Given the description of an element on the screen output the (x, y) to click on. 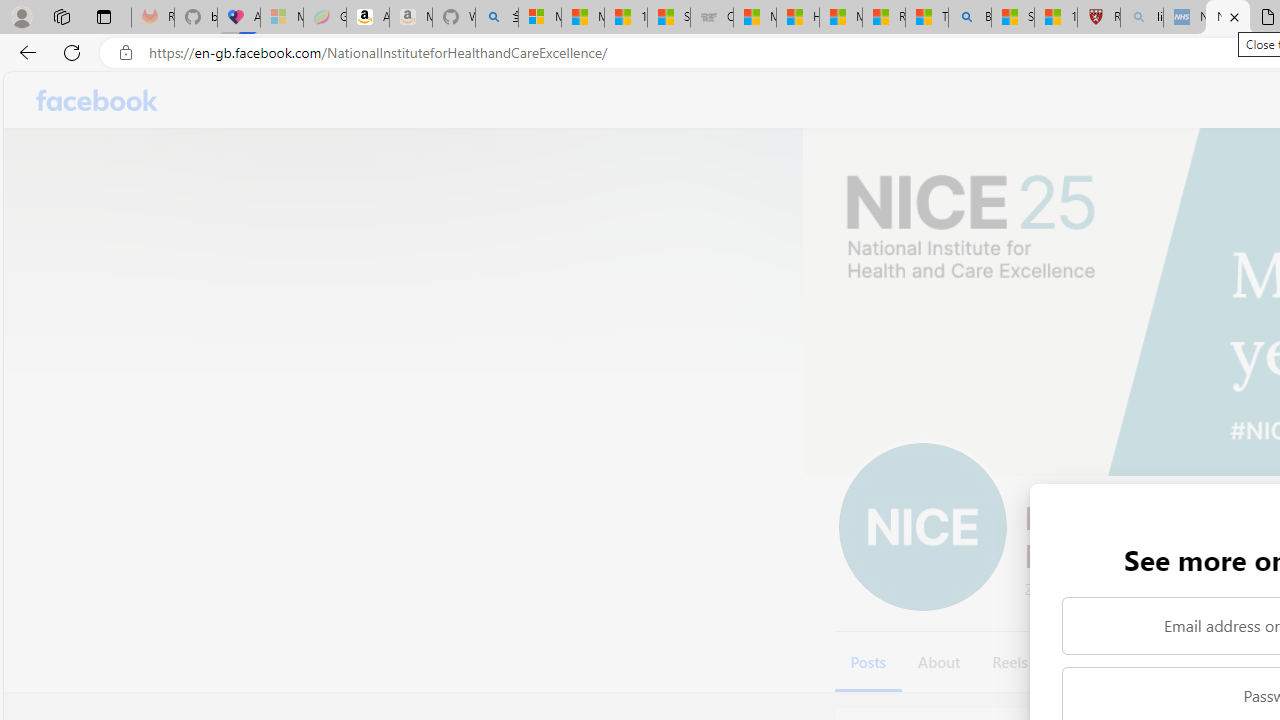
Combat Siege (712, 17)
Facebook (97, 99)
Stocks - MSN (668, 17)
How I Got Rid of Microsoft Edge's Unnecessary Features (798, 17)
12 Popular Science Lies that Must be Corrected (1055, 17)
Robert H. Shmerling, MD - Harvard Health (1098, 17)
Science - MSN (1013, 17)
Bing (969, 17)
